Given the description of an element on the screen output the (x, y) to click on. 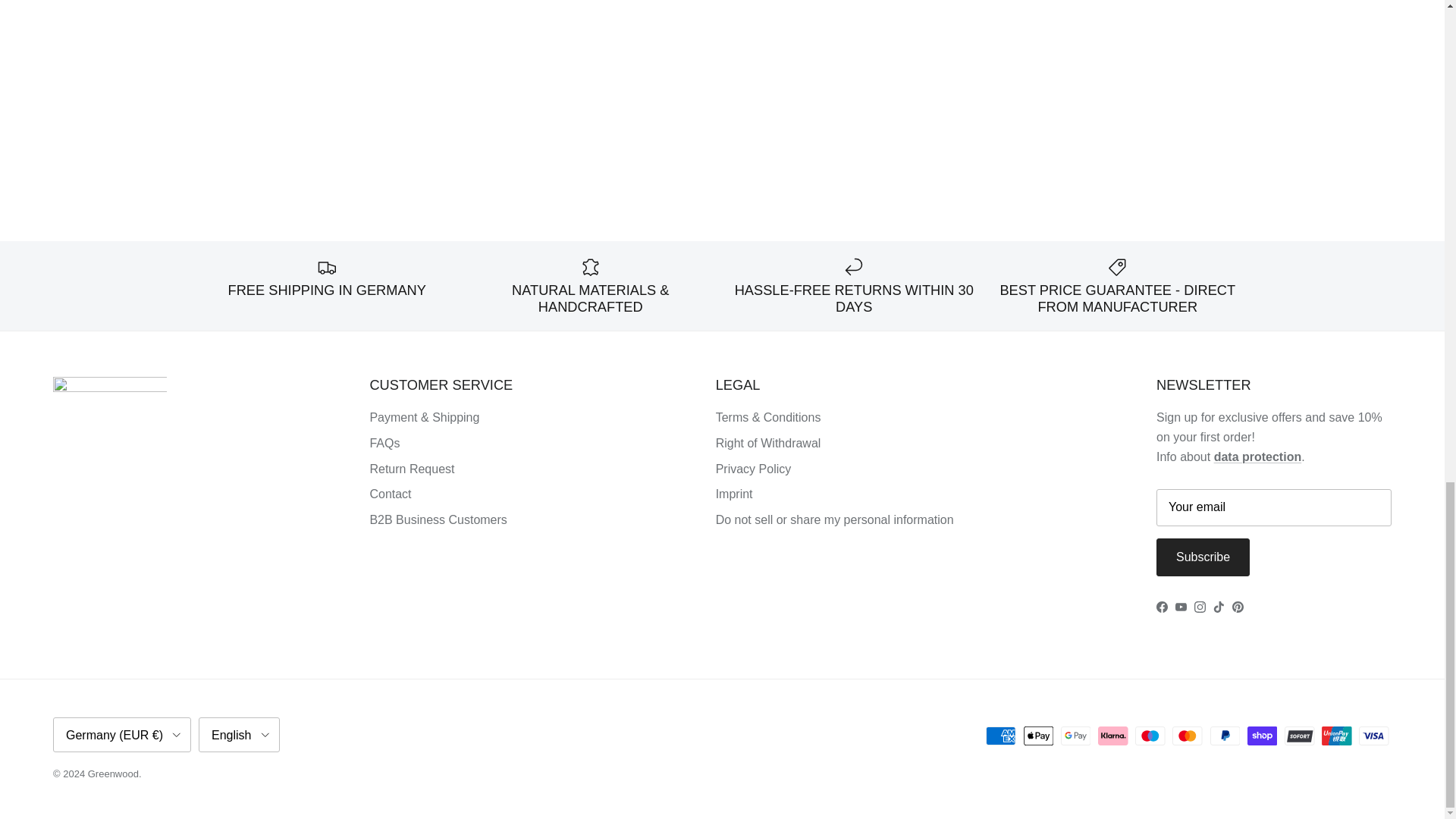
Klarna (1112, 735)
Maestro (1149, 735)
Greenwood on YouTube (1180, 606)
greenwood data protection (1257, 456)
Mastercard (1187, 735)
American Express (1000, 735)
Union Pay (1336, 735)
Greenwood on Facebook (1161, 606)
Greenwood on TikTok (1218, 606)
Shop Pay (1261, 735)
Greenwood on Instagram (1199, 606)
Apple Pay (1038, 735)
Greenwood on Pinterest (1237, 606)
Visa (1373, 735)
PayPal (1224, 735)
